Given the description of an element on the screen output the (x, y) to click on. 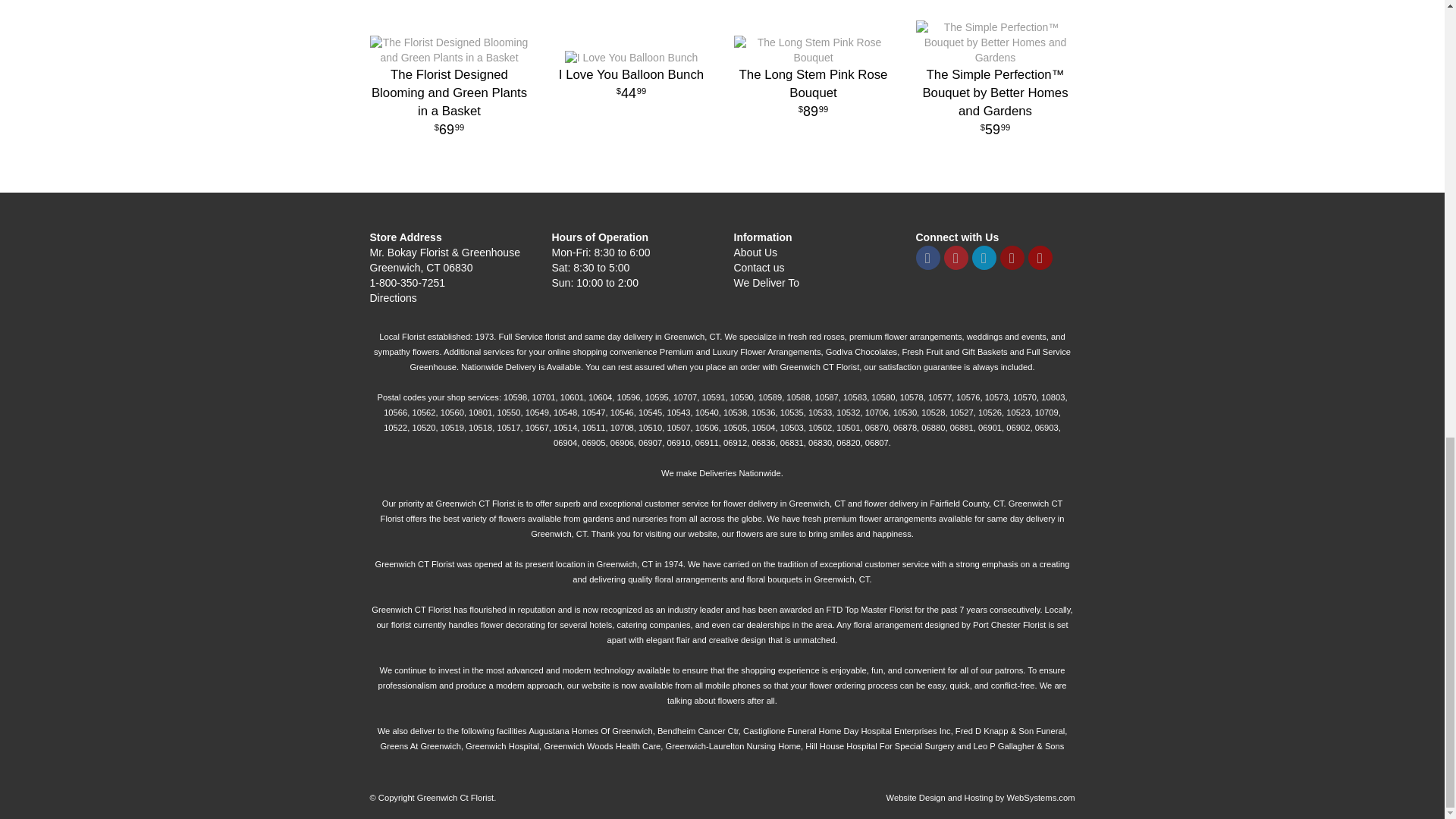
We Deliver To (766, 282)
About Us (755, 252)
Contact us (758, 267)
Directions (631, 86)
